Given the description of an element on the screen output the (x, y) to click on. 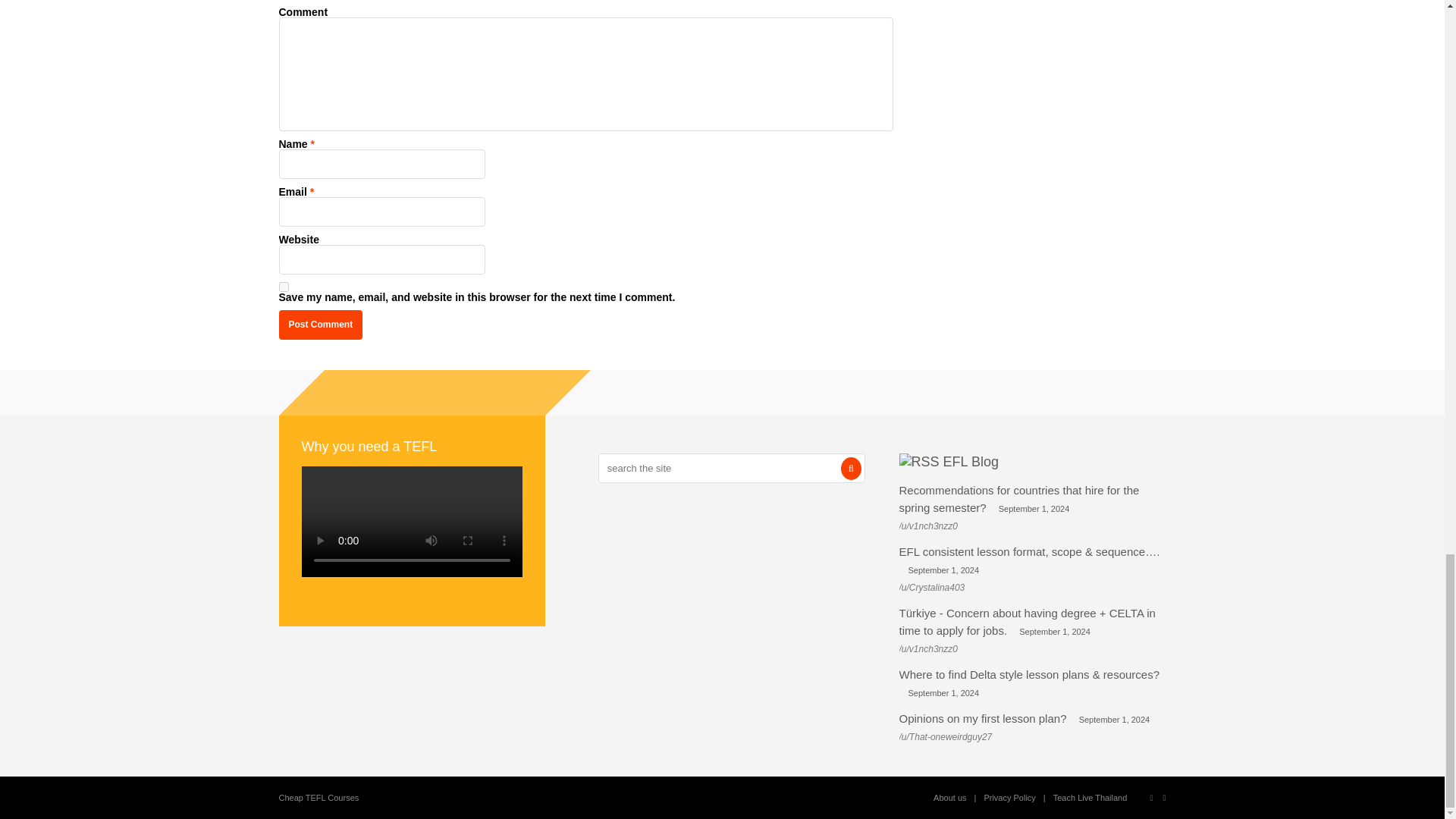
yes (283, 286)
Post Comment (320, 324)
EFL Blog (970, 461)
Post Comment (320, 324)
